Given the description of an element on the screen output the (x, y) to click on. 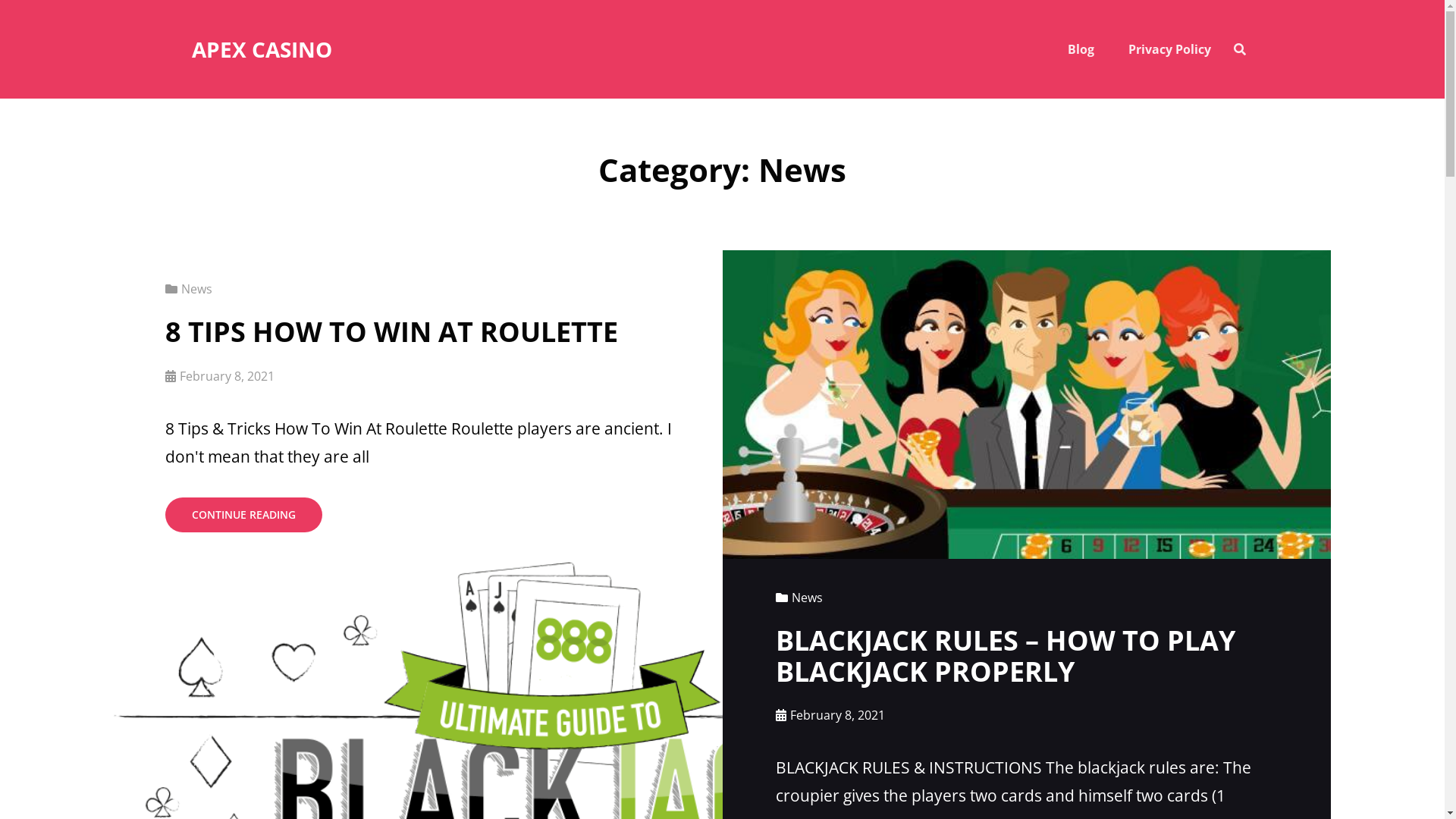
8 TIPS HOW TO WIN AT ROULETTE Element type: text (391, 331)
CONTINUE READING
8 TIPS HOW TO WIN AT ROULETTE Element type: text (243, 514)
News Element type: text (798, 597)
News Element type: text (188, 288)
SEARCH Element type: text (1238, 48)
8 tips how to win at roulette Element type: hover (1025, 404)
February 8, 2021 Element type: text (219, 375)
APEX CASINO Element type: text (261, 48)
Blog Element type: text (1080, 48)
February 8, 2021 Element type: text (829, 714)
Privacy Policy Element type: text (1169, 48)
